Given the description of an element on the screen output the (x, y) to click on. 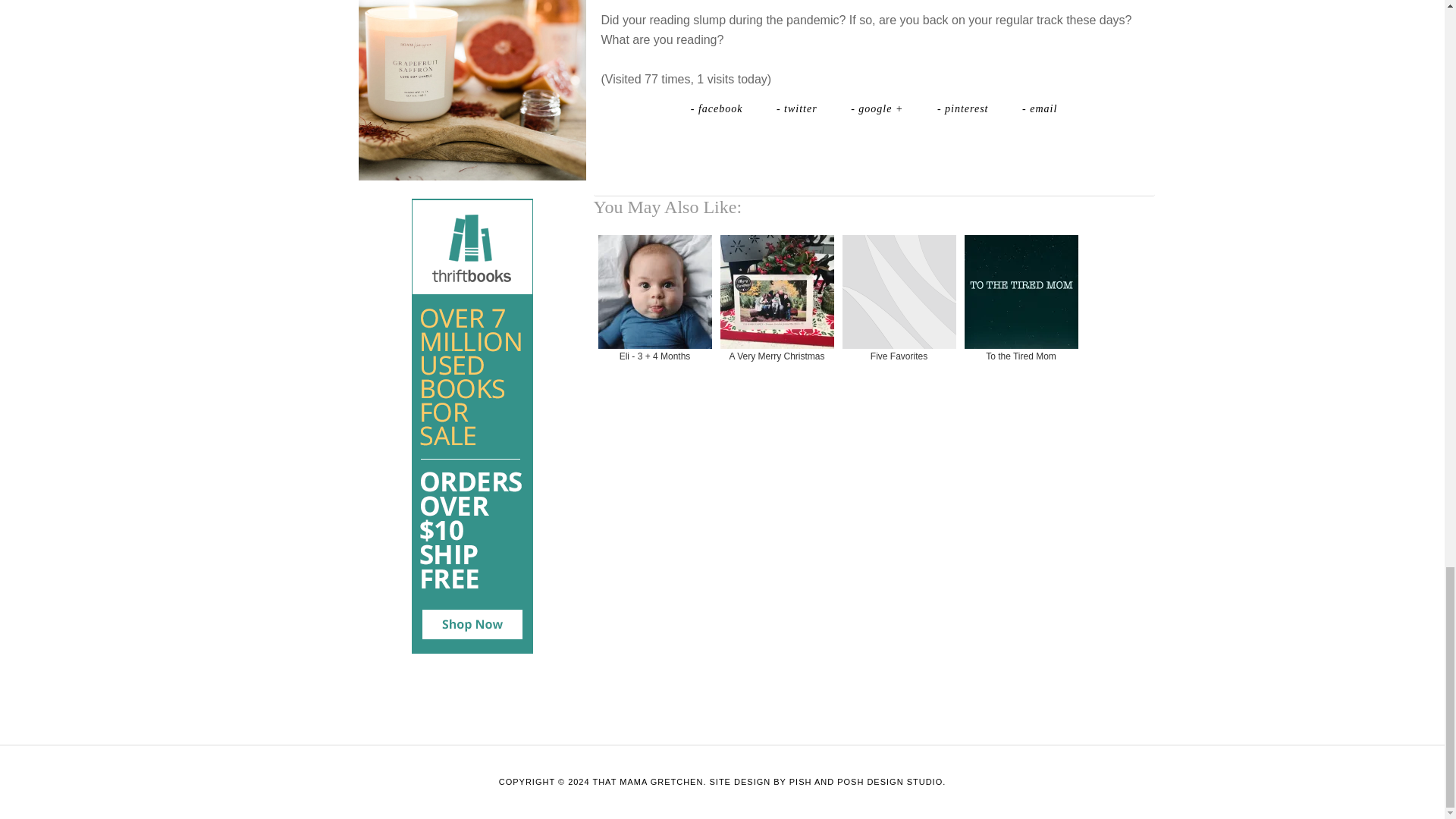
- pinterest (964, 108)
- twitter (798, 108)
Pinterest (964, 108)
Tweet This Post (798, 108)
Share on Facebook (718, 108)
- facebook (718, 108)
- email (1039, 108)
